Given the description of an element on the screen output the (x, y) to click on. 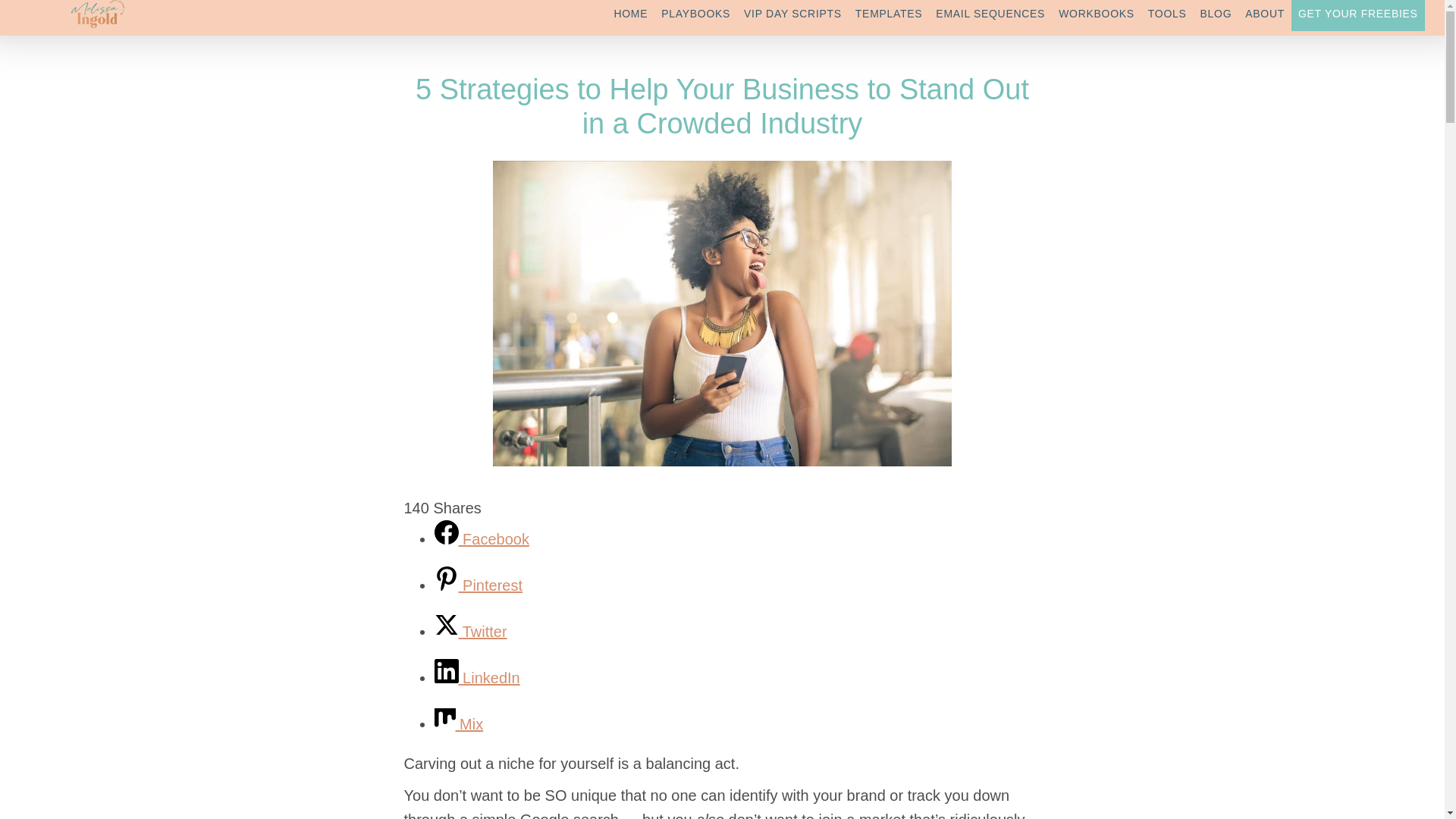
EMAIL SEQUENCES (989, 15)
HOME (630, 15)
TEMPLATES (889, 15)
VIP DAY SCRIPTS (792, 15)
PLAYBOOKS (694, 15)
WORKBOOKS (1096, 15)
